Given the description of an element on the screen output the (x, y) to click on. 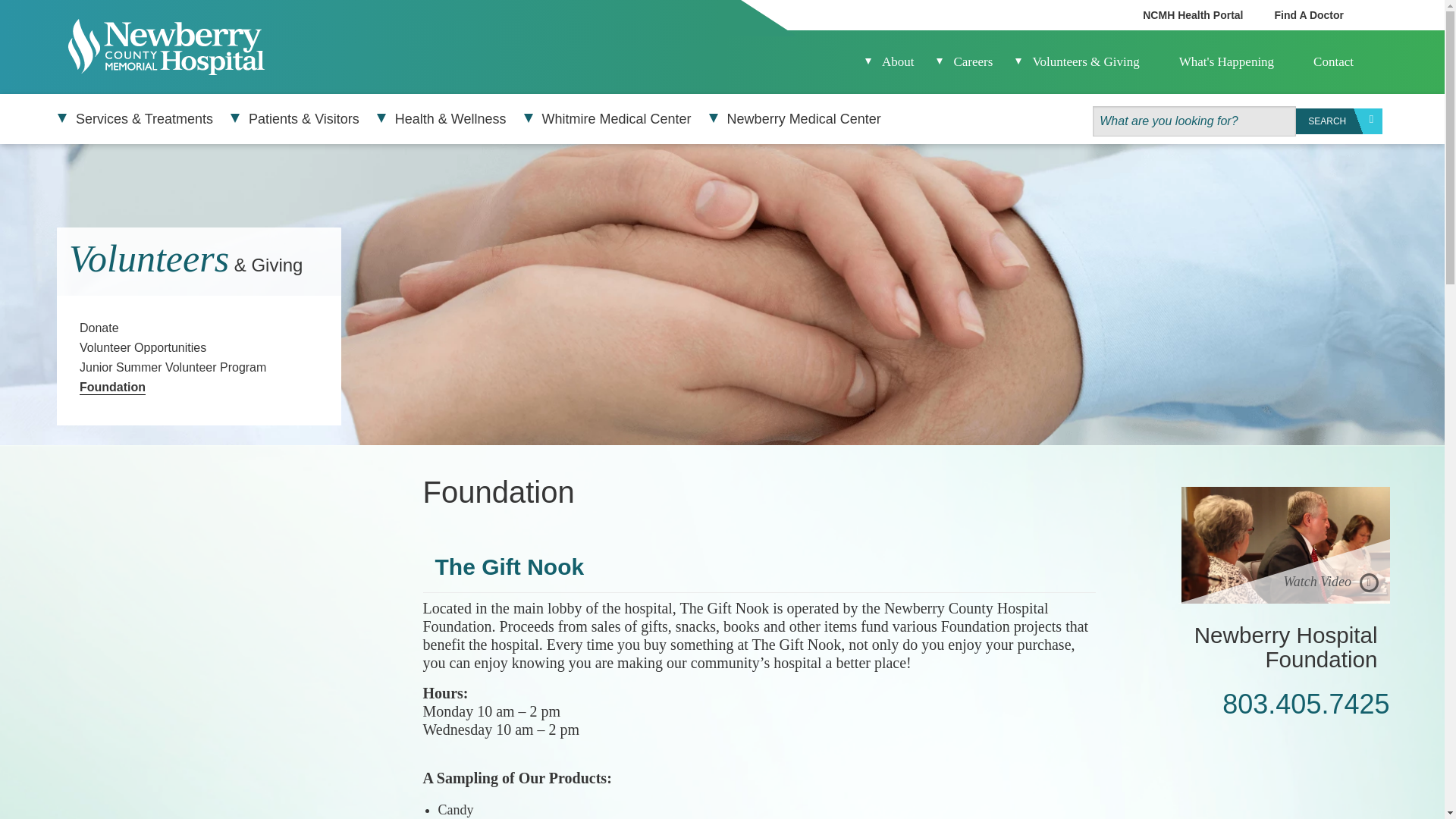
Contact (1333, 61)
What's Happening (1226, 61)
NCMH Health Portal (1192, 14)
Find A Doctor (1308, 14)
Careers (972, 61)
About (898, 61)
Search (1338, 121)
